Given the description of an element on the screen output the (x, y) to click on. 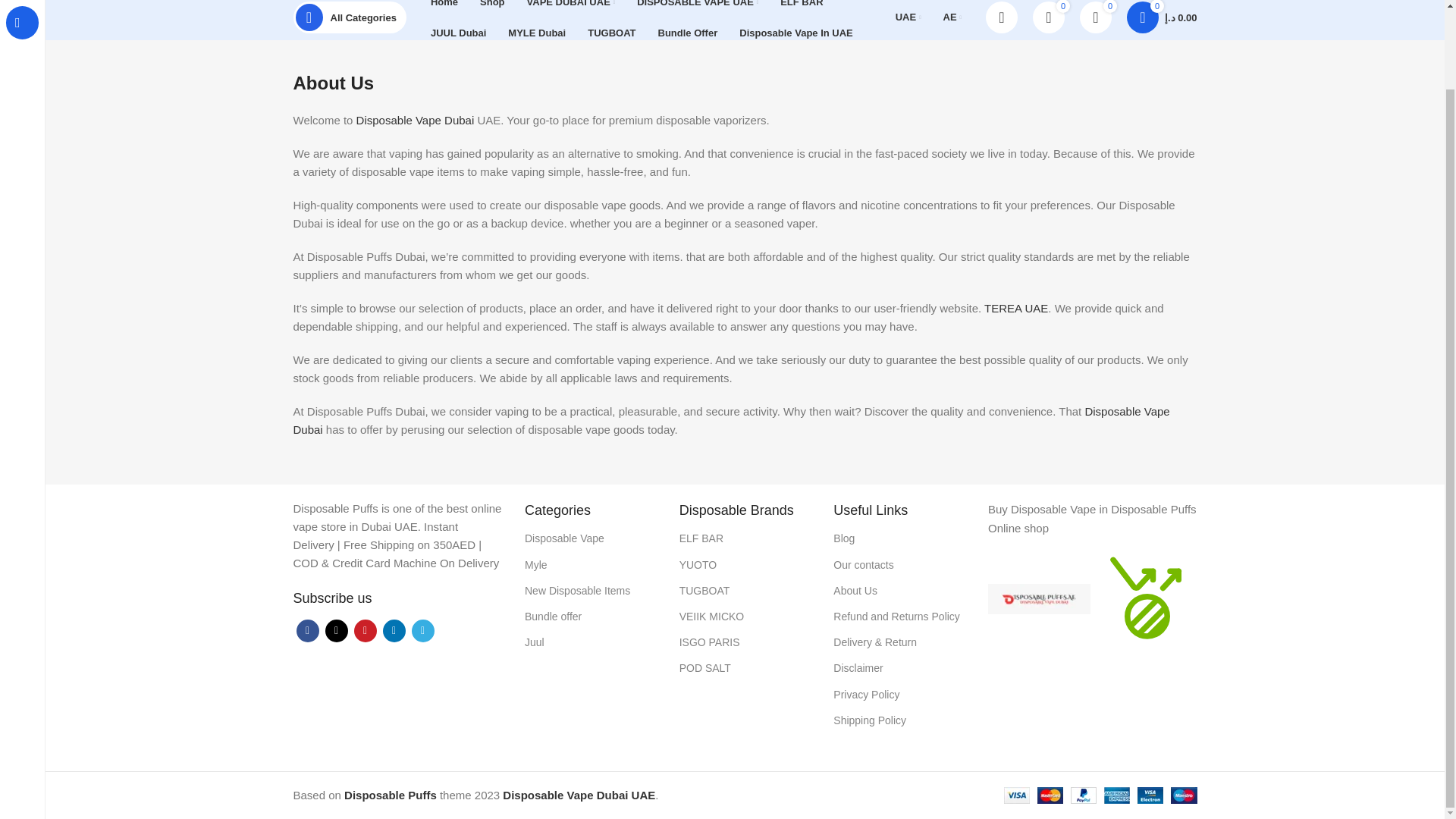
Disposable Vape In UAE (795, 32)
Bundle Offer (687, 32)
MYLE Dubai (537, 32)
Shop (491, 8)
0 (1048, 17)
My account (1001, 17)
TUGBOAT (611, 32)
Home (444, 8)
UAE (908, 17)
0 (1095, 17)
My Wishlist (1095, 17)
All Categories (349, 17)
JUUL Dubai (458, 32)
Shopping cart (1162, 17)
VAPE DUBAI UAE (571, 8)
